Given the description of an element on the screen output the (x, y) to click on. 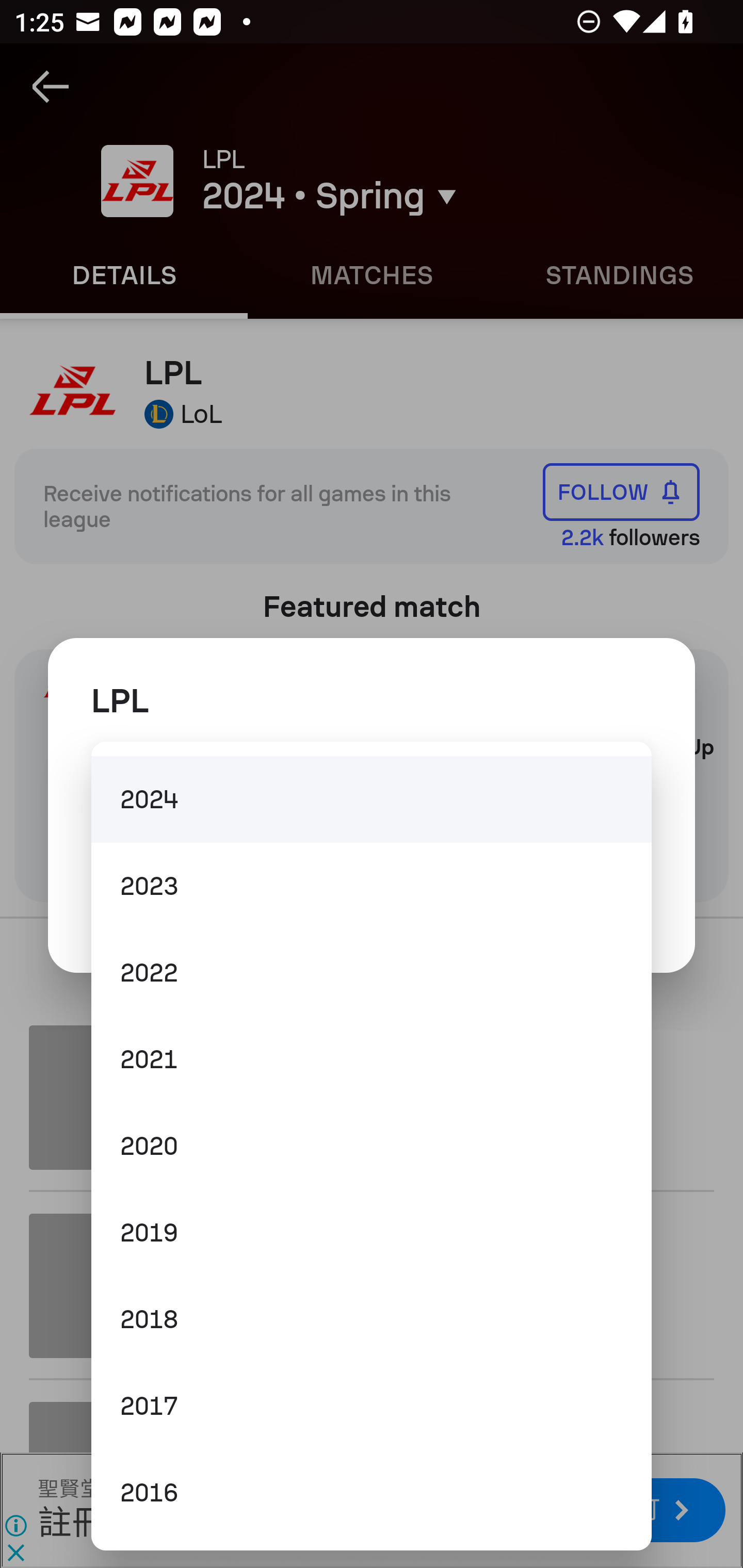
2024 (371, 799)
2023 (371, 886)
2022 (371, 972)
2021 (371, 1059)
2020 (371, 1146)
2019 (371, 1233)
2018 (371, 1319)
2017 (371, 1405)
2016 (371, 1492)
